Given the description of an element on the screen output the (x, y) to click on. 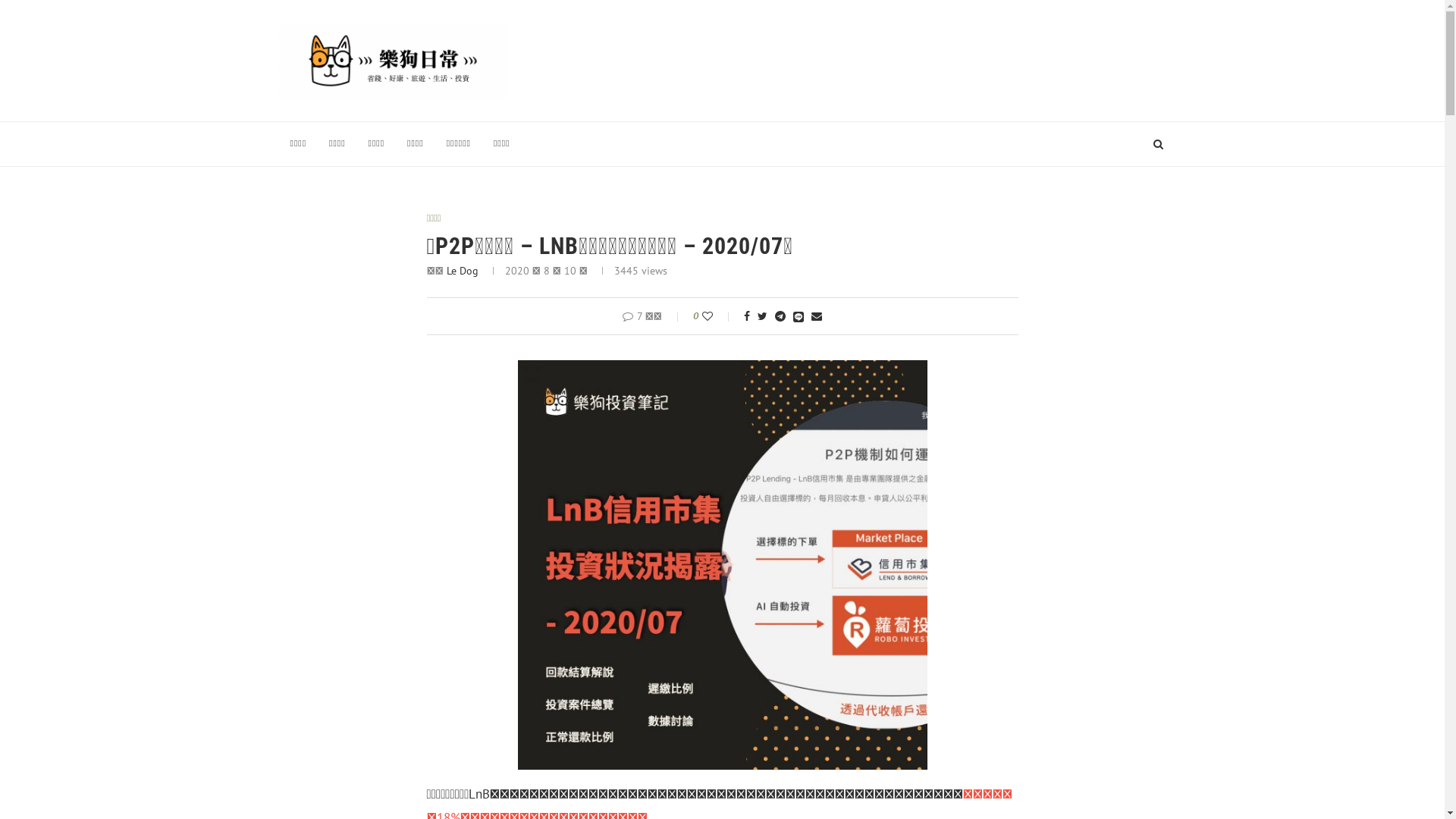
Like Element type: hover (717, 316)
Le Dog Element type: text (461, 270)
